Given the description of an element on the screen output the (x, y) to click on. 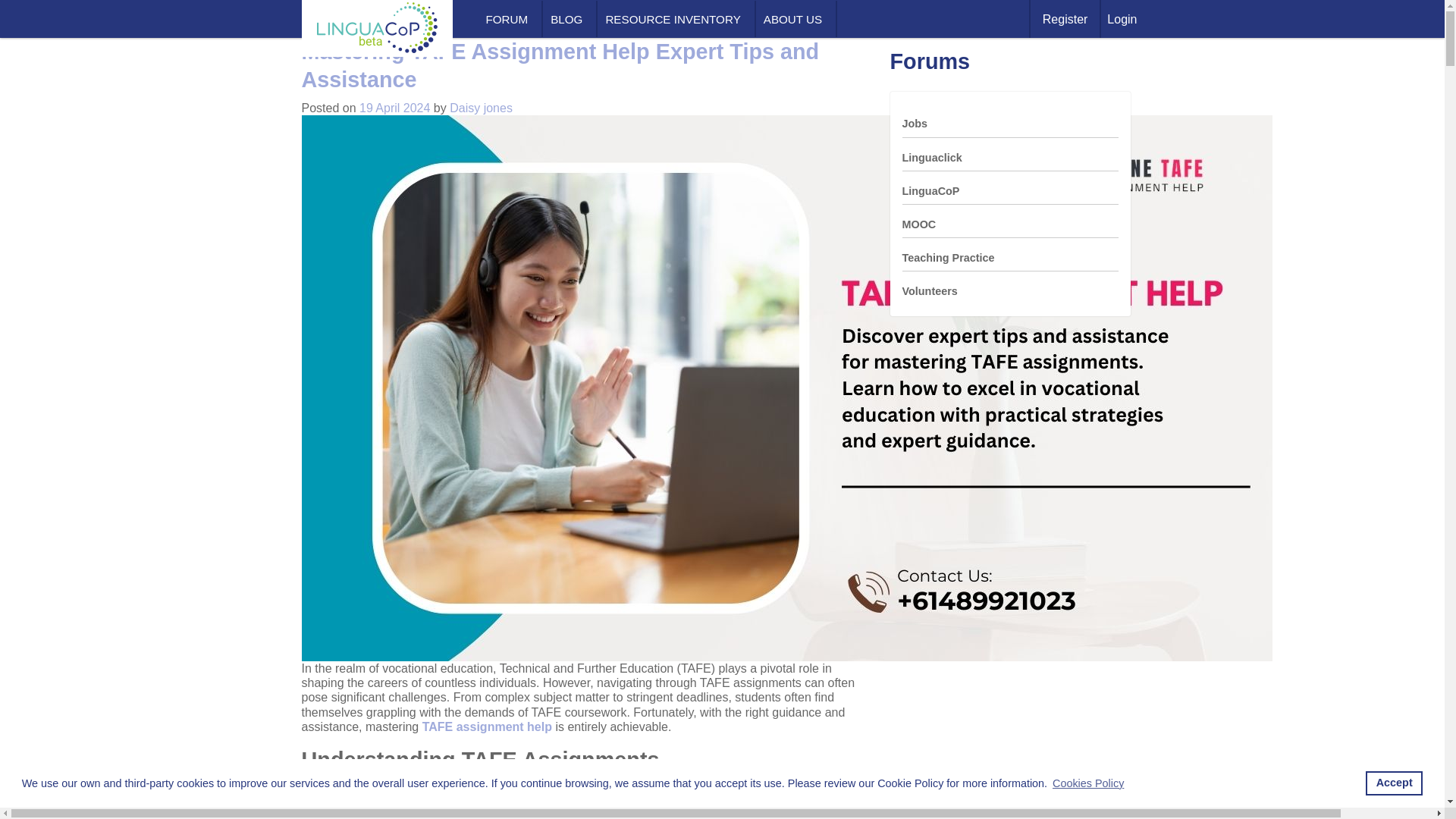
Register (1064, 18)
Login (1121, 18)
Daisy jones (480, 107)
Accept (1393, 782)
About Us (795, 18)
ABOUT US (795, 18)
Blog (569, 18)
Forum (509, 18)
Cookies Policy (1087, 783)
FORUM (509, 18)
RESOURCE INVENTORY (675, 18)
Mastering TAFE Assignment Help Expert Tips and Assistance (560, 65)
Resource Inventory (675, 18)
BLOG (569, 18)
19 April 2024 (394, 107)
